Given the description of an element on the screen output the (x, y) to click on. 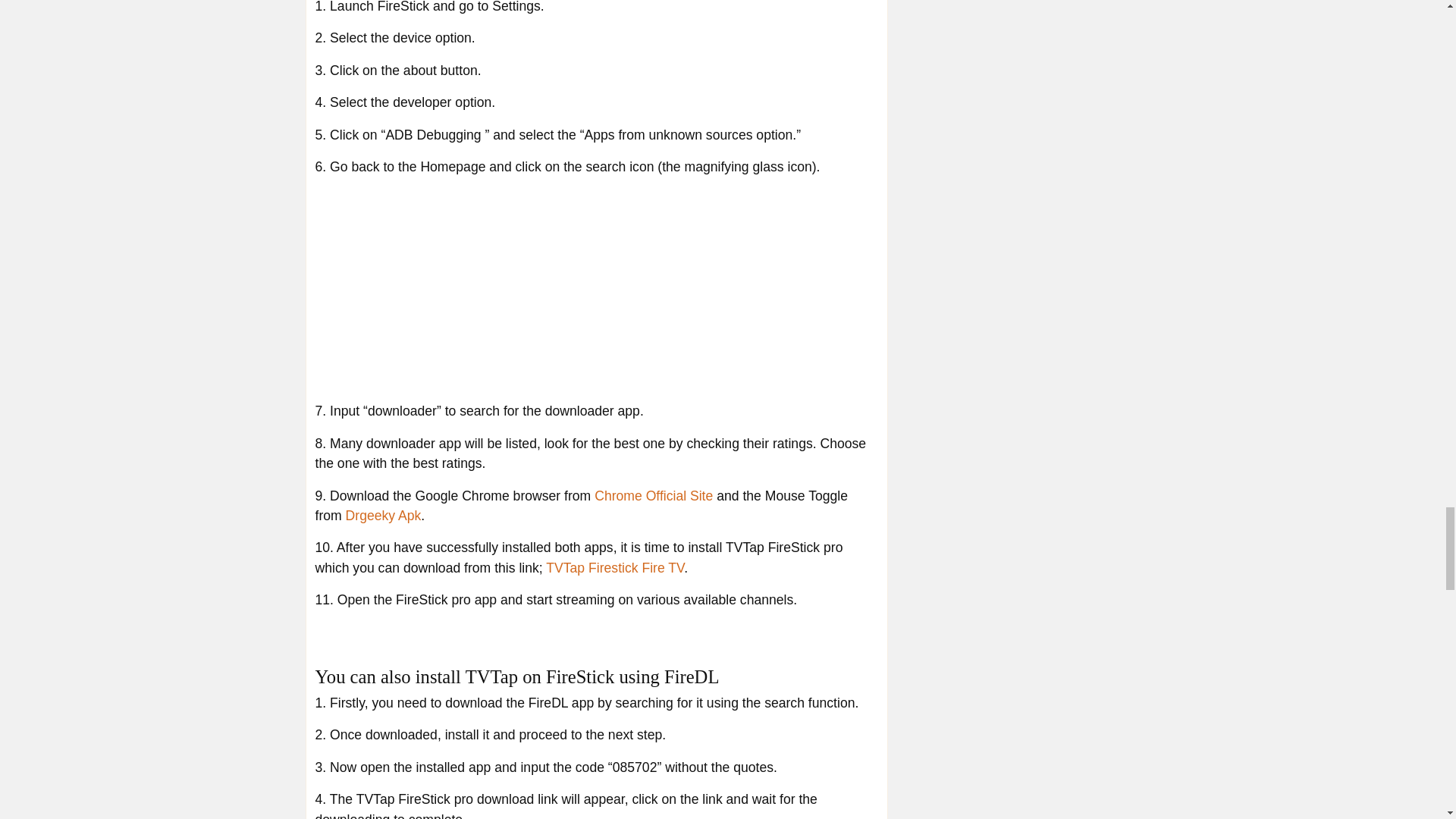
Drgeeky Apk (384, 515)
Chrome Official Site (653, 495)
TVTap Firestick Fire TV (615, 567)
